Given the description of an element on the screen output the (x, y) to click on. 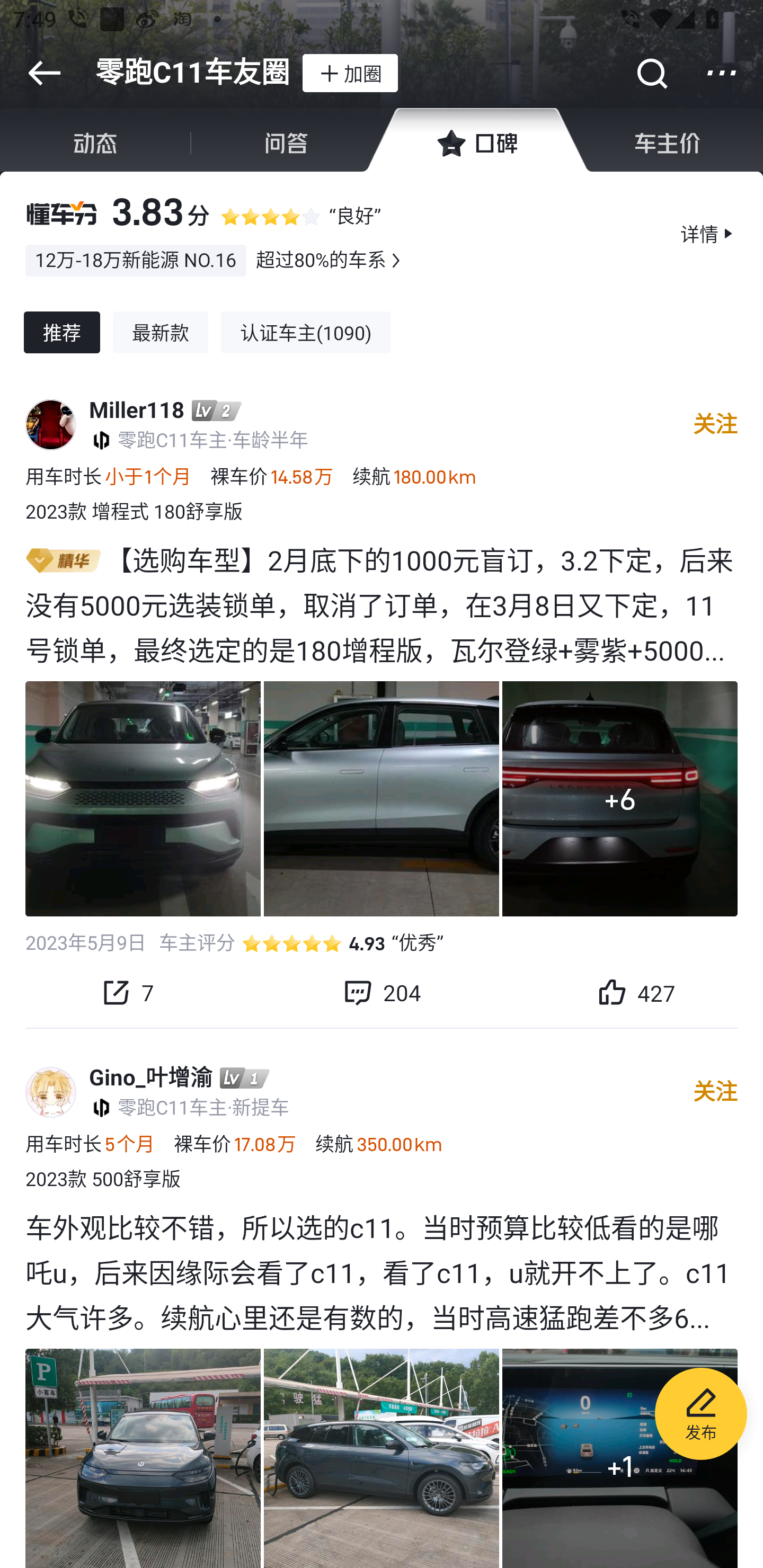
 (44, 72)
 加圈 (350, 72)
 (651, 72)
 (721, 72)
详情  (708, 233)
超过80%的车系 (320, 260)
 (395, 259)
推荐 (61, 332)
最新款 (160, 332)
认证车主(1090) (305, 332)
Miller118 (136, 410)
关注 (714, 424)
+6 (619, 797)
 7 (127, 992)
 204 (381, 992)
427 (635, 992)
Gino_叶增渝 (150, 1077)
关注 (714, 1092)
+1 (381, 1458)
+1 (619, 1458)
 发布 (701, 1416)
